Given the description of an element on the screen output the (x, y) to click on. 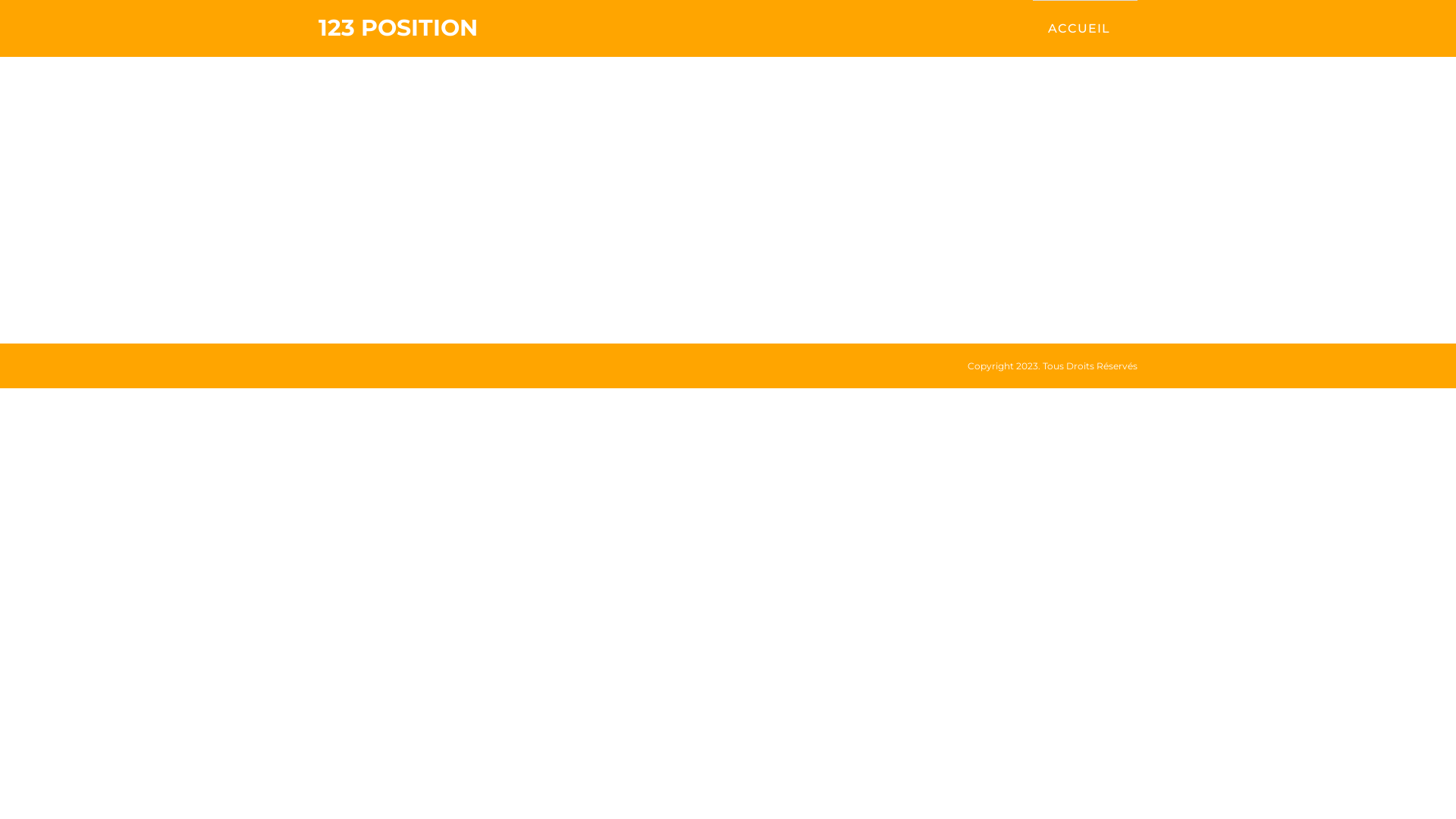
ACCUEIL Element type: text (1078, 28)
123 POSITION Element type: text (397, 27)
